Given the description of an element on the screen output the (x, y) to click on. 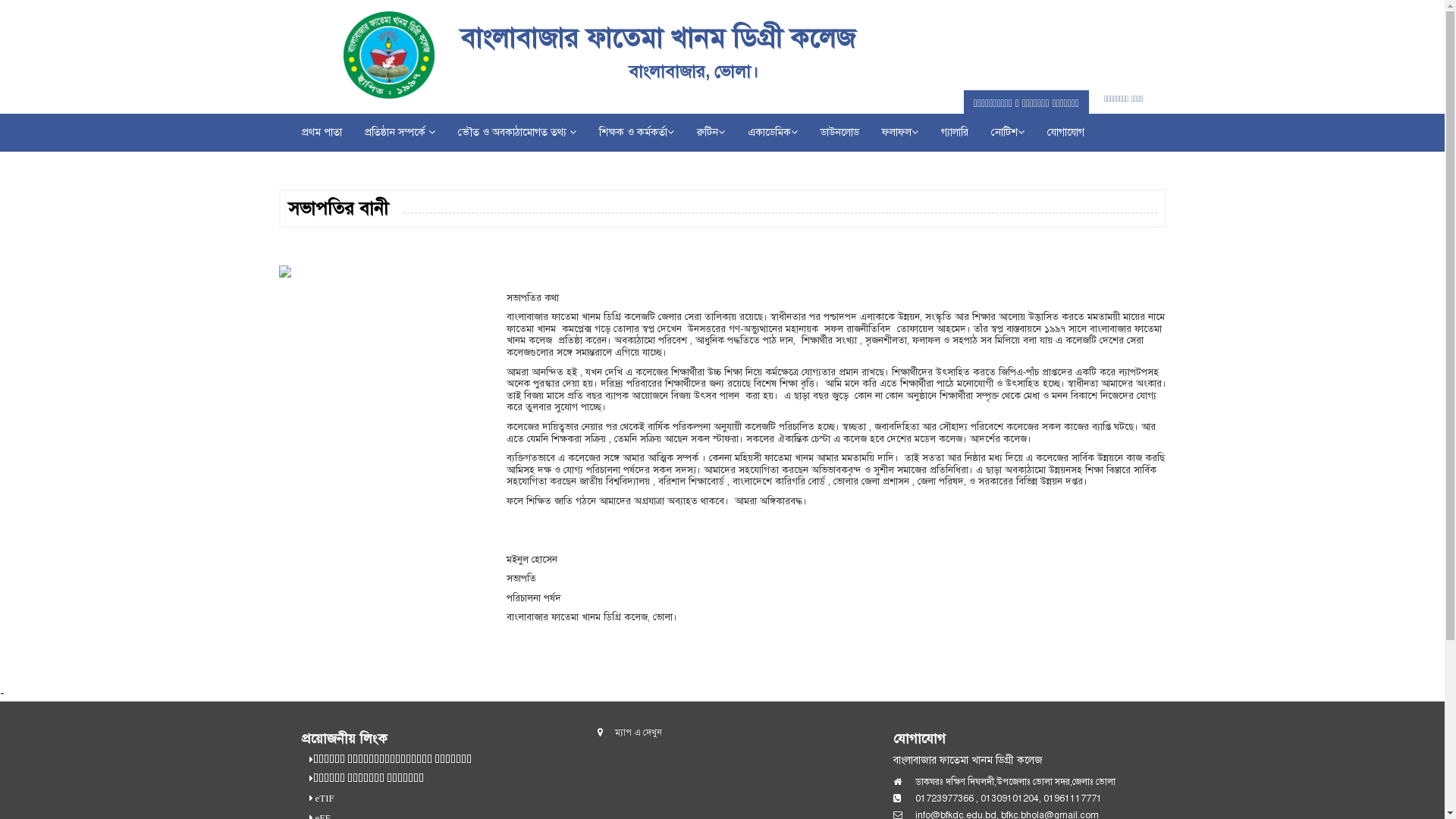
eTIF Element type: text (322, 798)
